Given the description of an element on the screen output the (x, y) to click on. 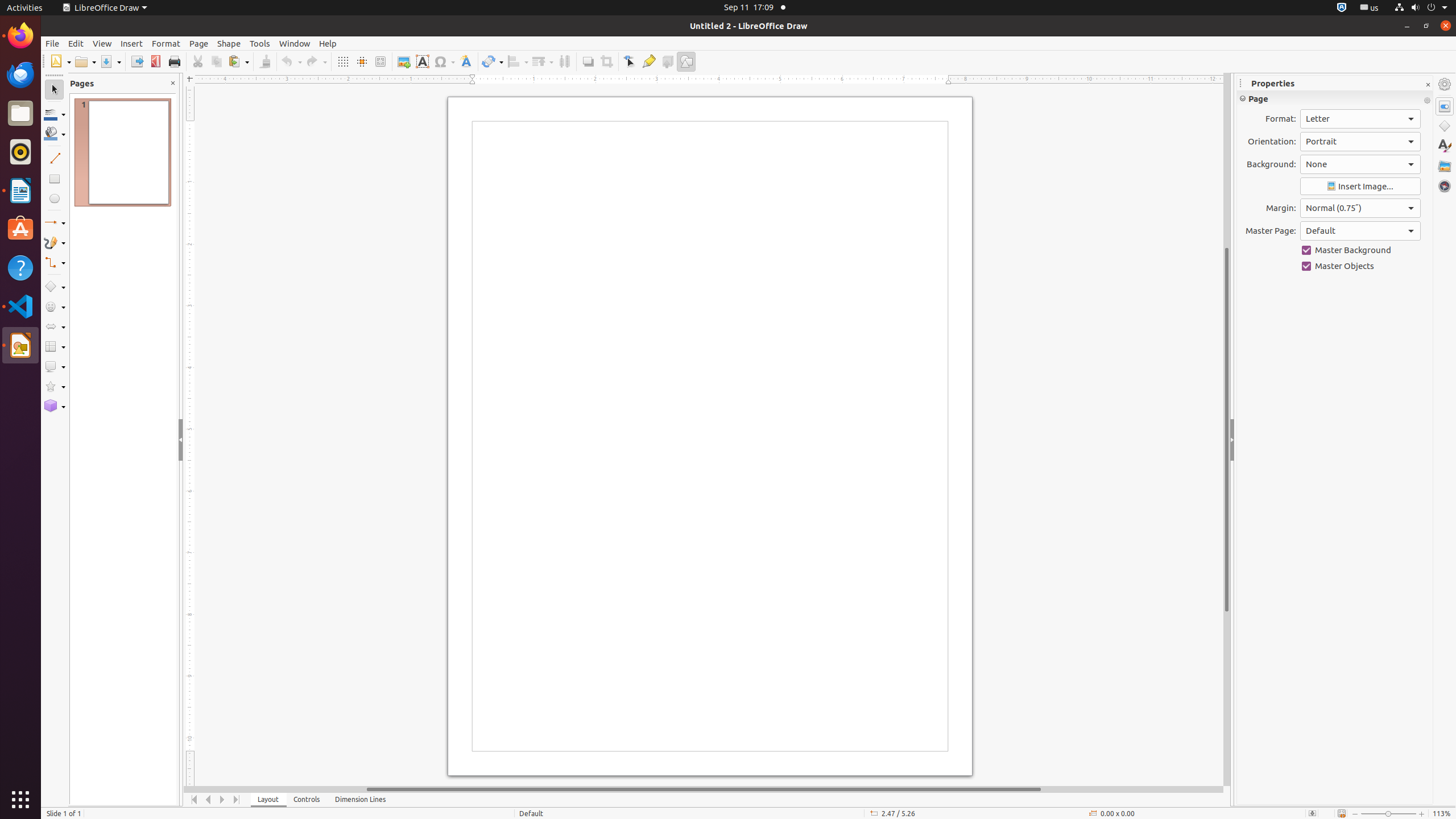
Redo Element type: push-button (315, 61)
Help Element type: push-button (20, 267)
Connectors Element type: push-button (54, 262)
Show Applications Element type: toggle-button (20, 799)
Format: Element type: combo-box (1360, 118)
